Given the description of an element on the screen output the (x, y) to click on. 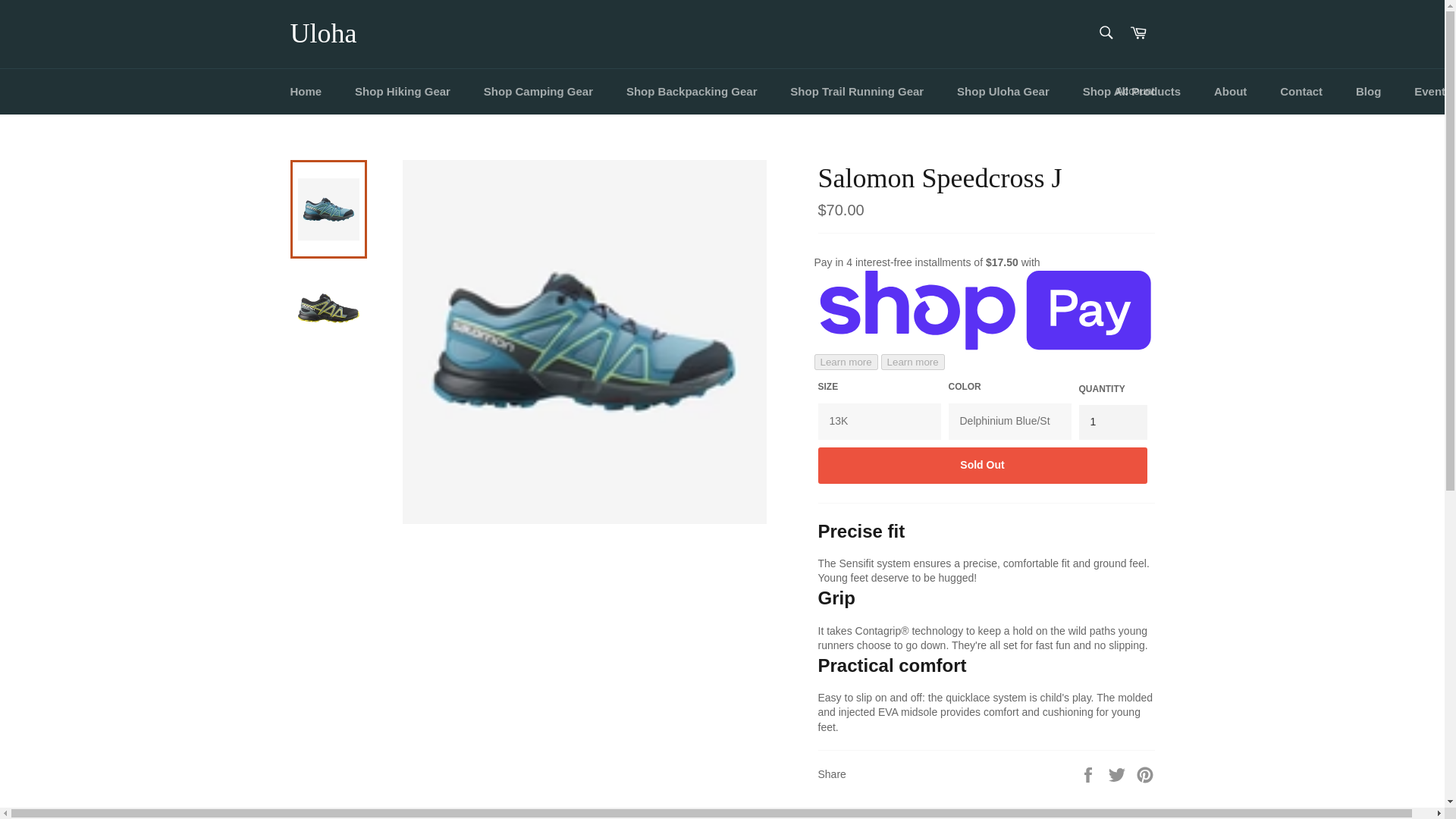
Account (1134, 90)
Shop All Products (1131, 90)
Shop Hiking Gear (402, 90)
Pin on Pinterest (1144, 774)
Cart (1138, 33)
Shop Trail Running Gear (856, 90)
Home (305, 90)
Shop Uloha Gear (1003, 90)
Share on Facebook (1089, 774)
Tweet on Twitter (1118, 774)
